Given the description of an element on the screen output the (x, y) to click on. 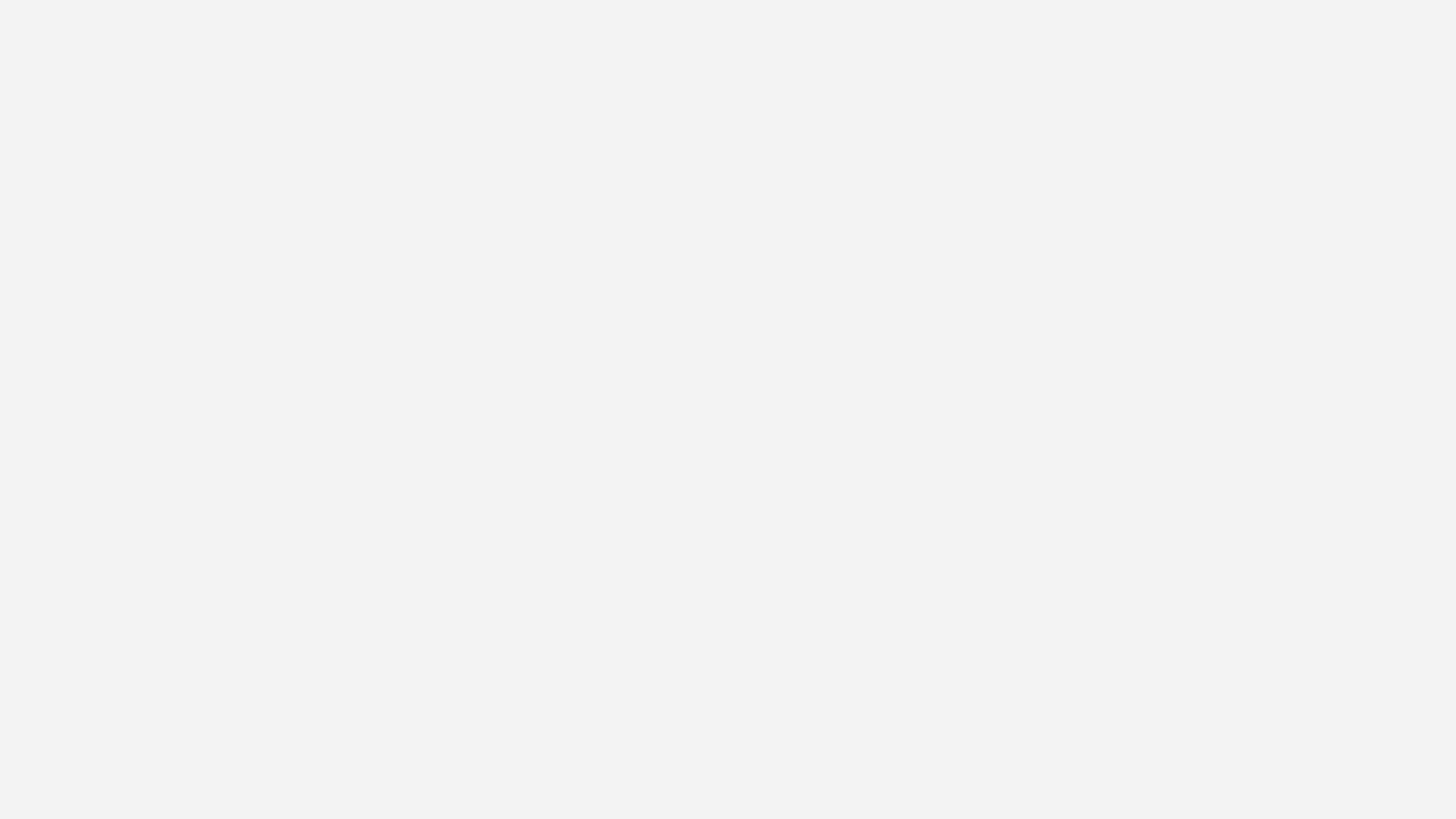
Reset Password Element type: text (721, 284)
